Given the description of an element on the screen output the (x, y) to click on. 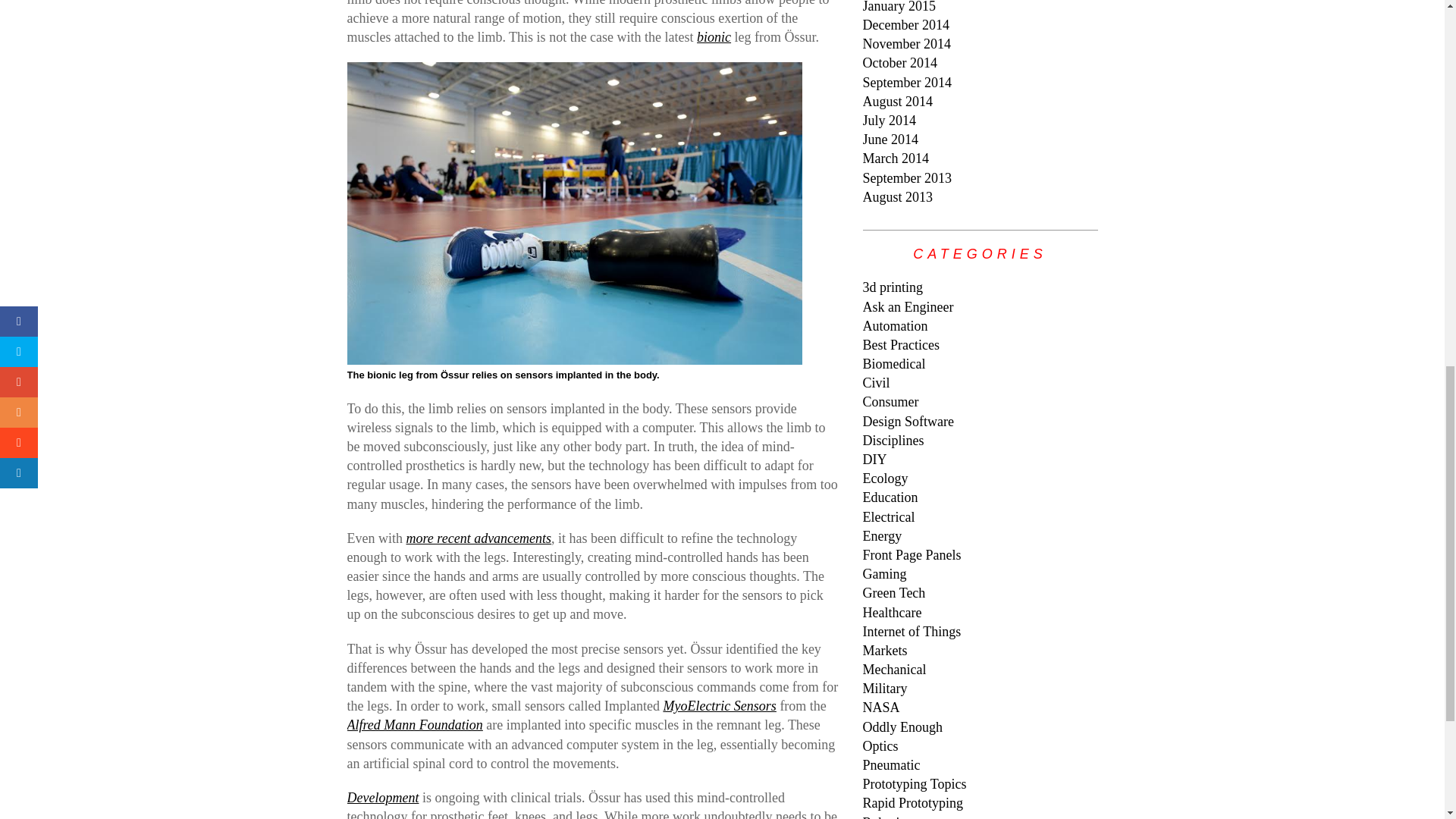
MyoElectric Sensors (719, 705)
Development (383, 797)
bionic (713, 37)
Alfred Mann Foundation (415, 724)
more recent advancements (478, 538)
